Given the description of an element on the screen output the (x, y) to click on. 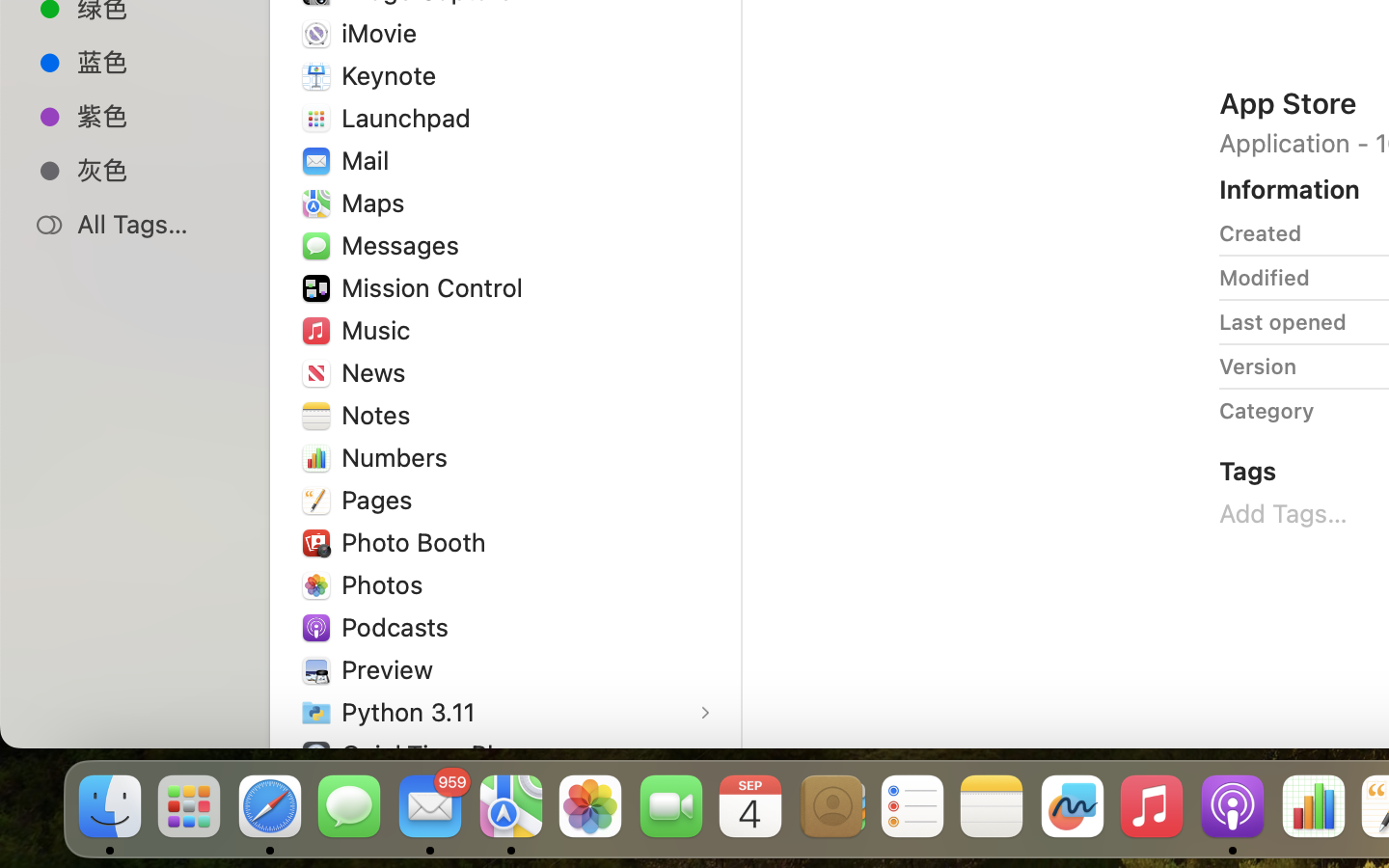
Information Element type: AXStaticText (1289, 188)
蓝色 Element type: AXStaticText (155, 61)
Modified Element type: AXStaticText (1264, 277)
Maps Element type: AXTextField (376, 202)
